Given the description of an element on the screen output the (x, y) to click on. 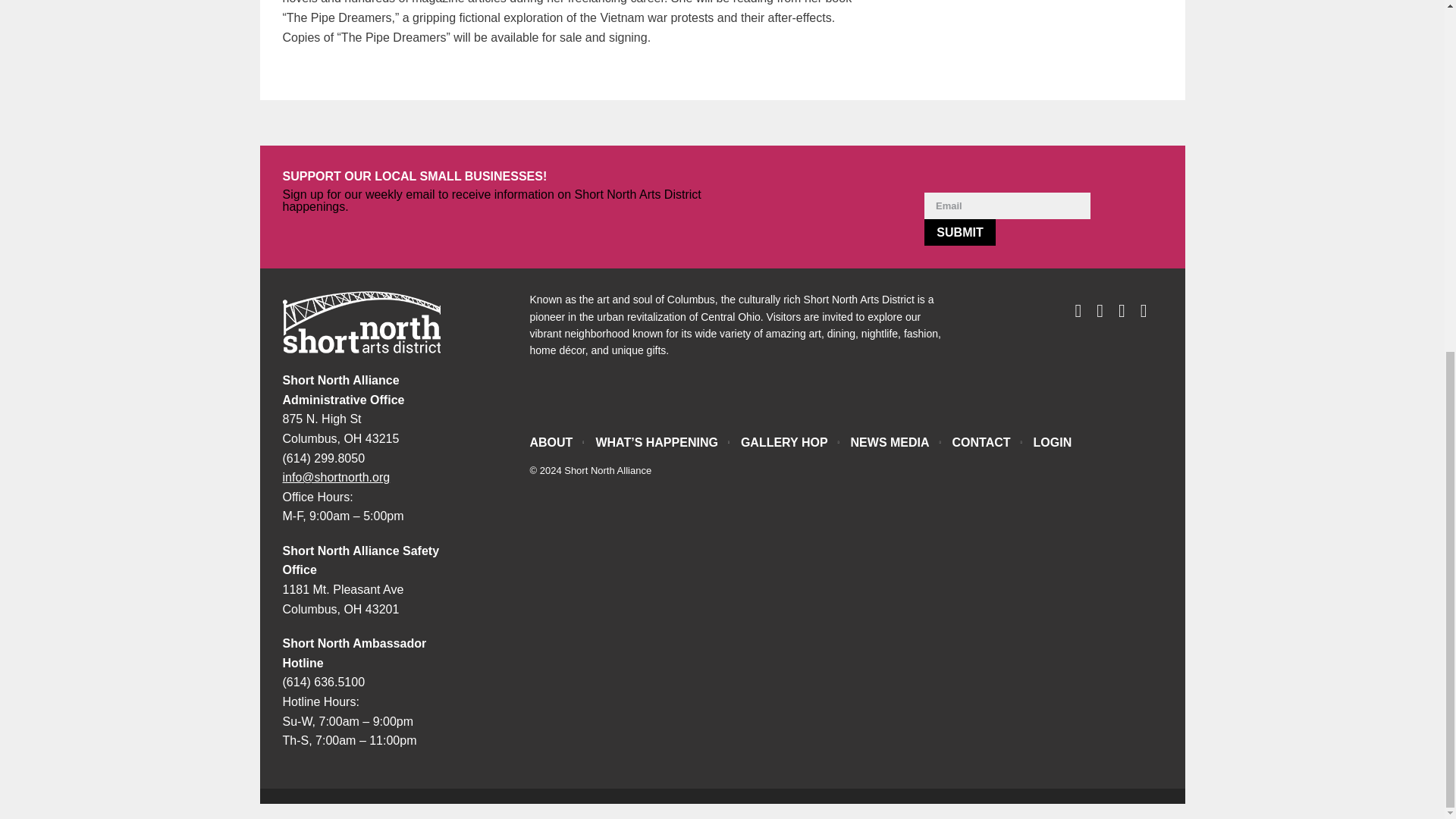
Submit (959, 232)
